Given the description of an element on the screen output the (x, y) to click on. 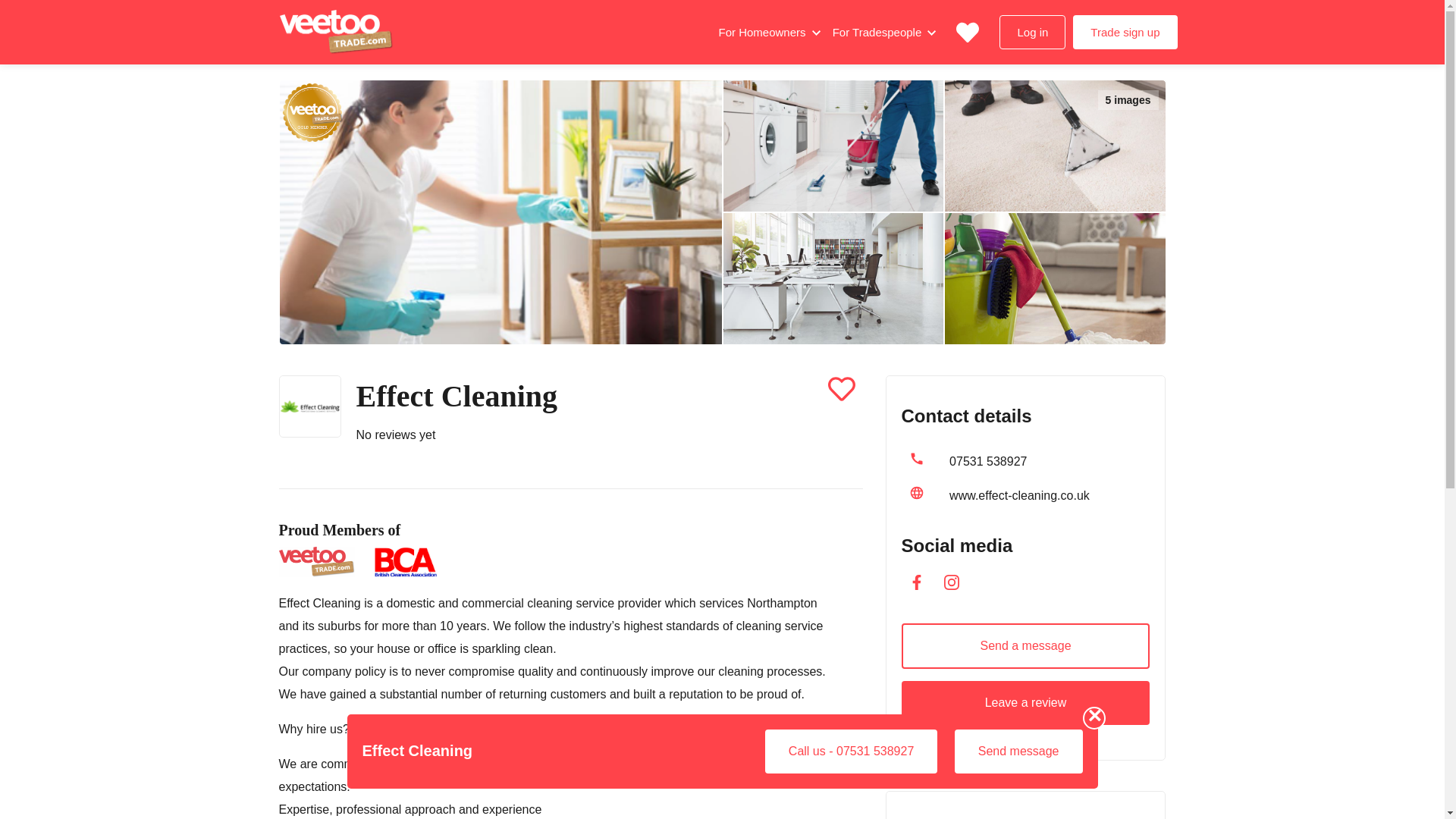
For Homeowners (762, 31)
07531 538927 (987, 461)
Log in (1031, 32)
Send a message (1025, 646)
Trade sign up (1124, 32)
For Tradespeople (878, 31)
